Given the description of an element on the screen output the (x, y) to click on. 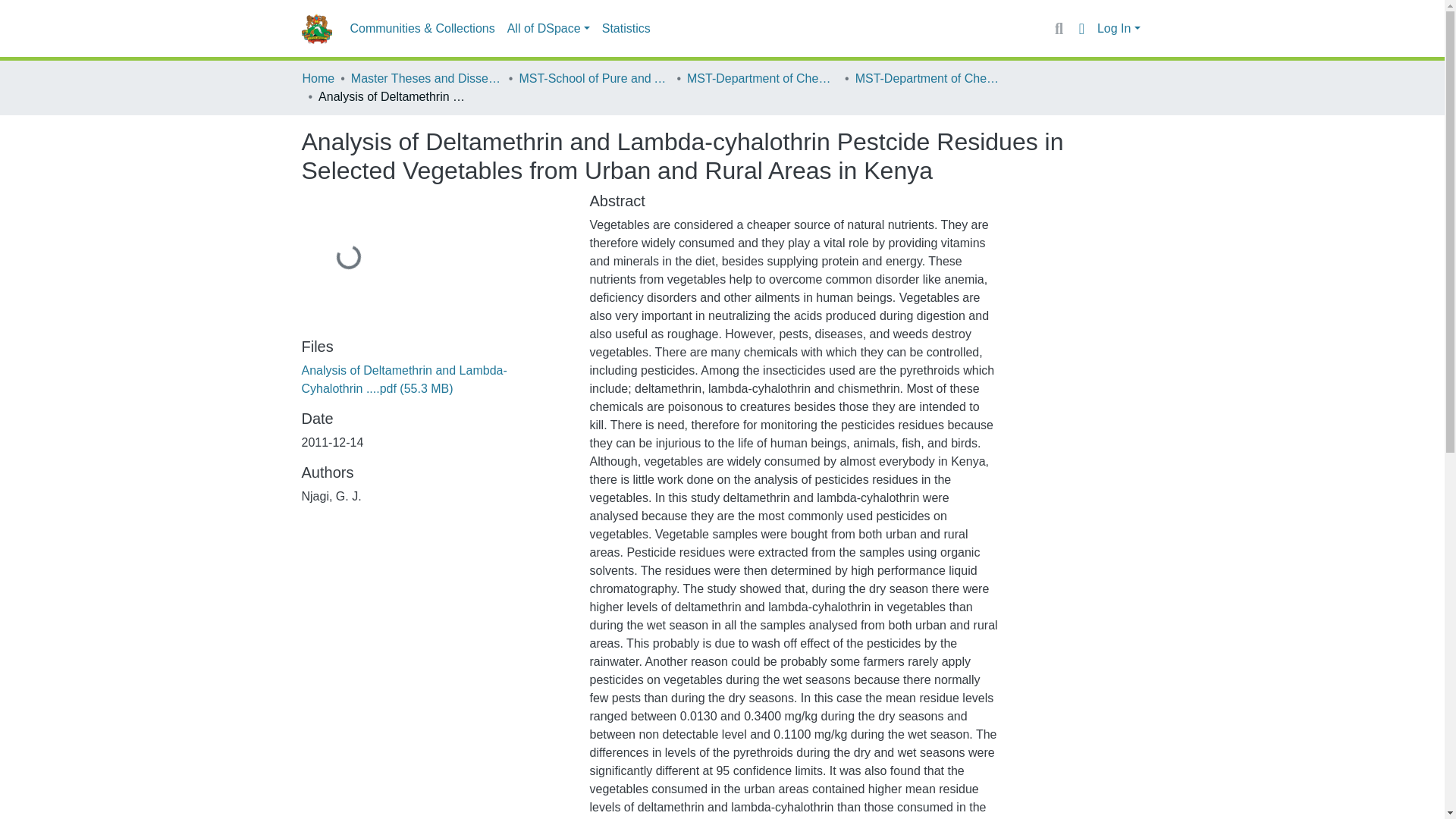
Log In (1118, 28)
MST-Department of Chemistry (762, 78)
Statistics (625, 28)
Search (1058, 28)
All of DSpace (547, 28)
Home (317, 78)
Language switch (1081, 28)
Statistics (625, 28)
MST-Department of Chemistry (931, 78)
MST-School of Pure and Applied Sciences (593, 78)
